Given the description of an element on the screen output the (x, y) to click on. 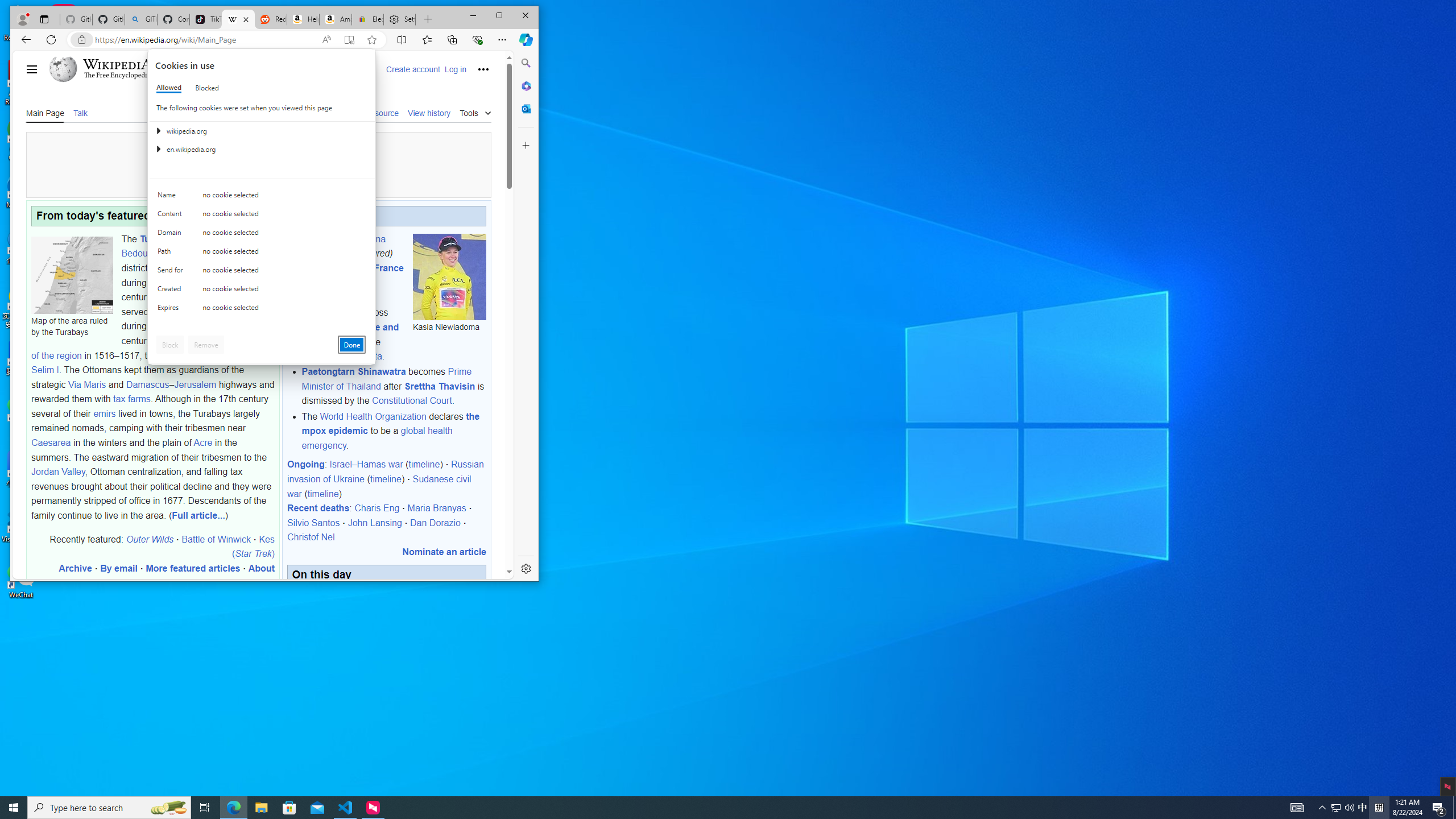
Start (13, 807)
Remove (205, 344)
AutomationID: 4105 (1297, 807)
Send for (172, 272)
no cookie selected (284, 310)
Show desktop (1454, 807)
Tray Input Indicator - Chinese (Simplified, China) (1378, 807)
Name (172, 197)
Visual Studio Code - 1 running window (345, 807)
Class: c0153 c0157 (261, 309)
File Explorer (261, 807)
Action Center, 2 new notifications (1362, 807)
Path (1439, 807)
